Given the description of an element on the screen output the (x, y) to click on. 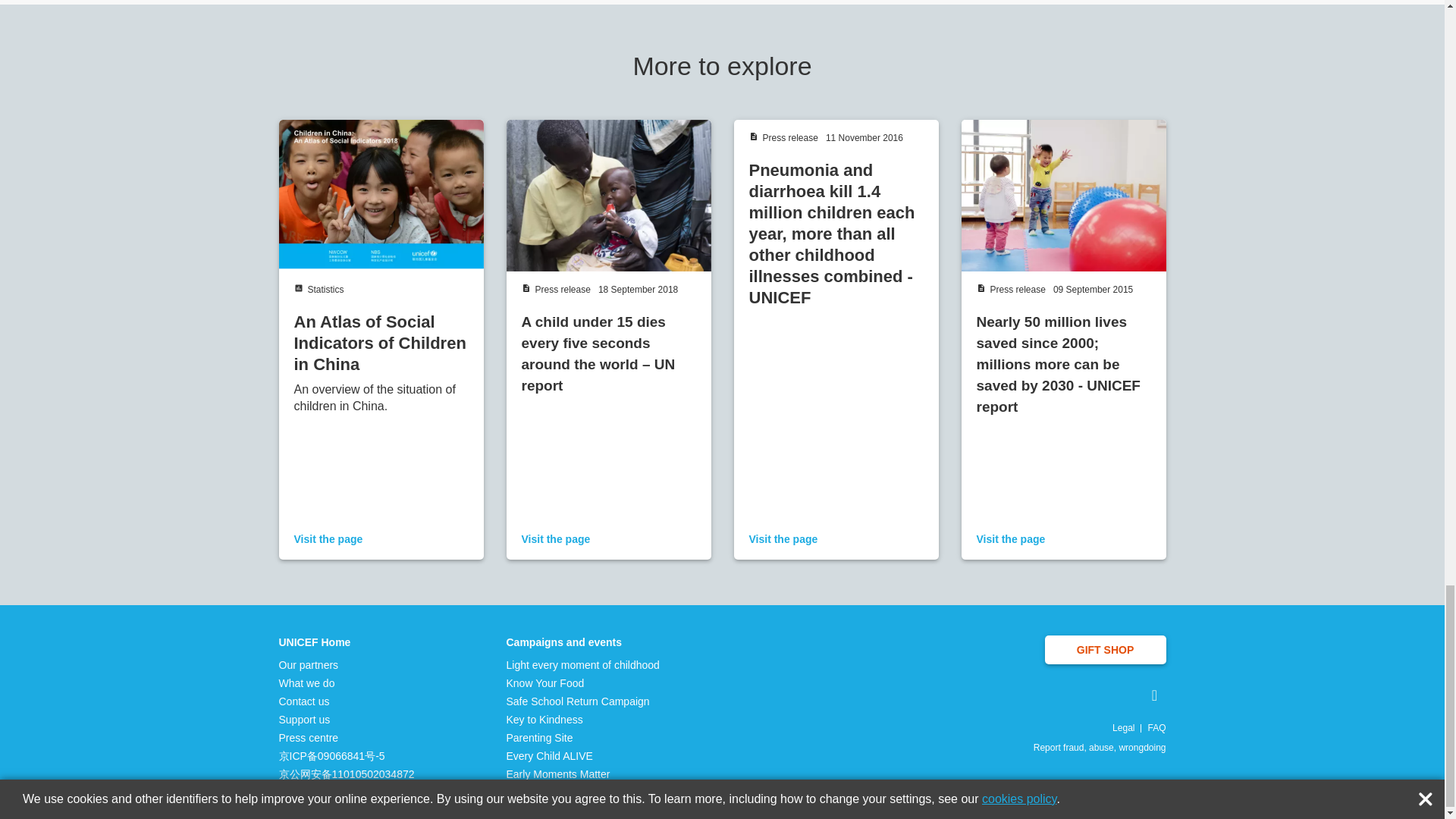
UNICEF Home (346, 642)
Our partners (346, 664)
